Given the description of an element on the screen output the (x, y) to click on. 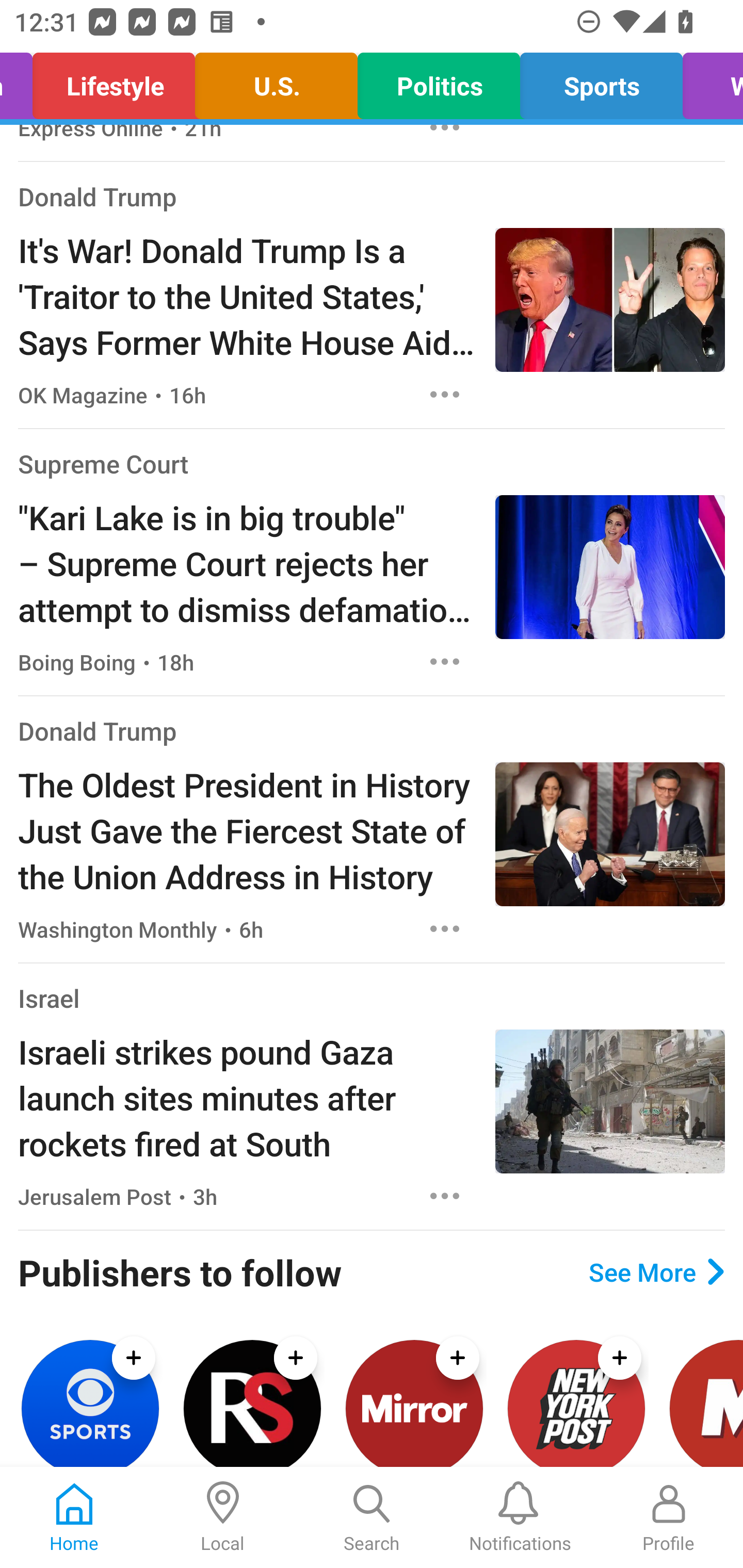
Lifestyle (113, 81)
U.S. (276, 81)
Politics (438, 81)
Sports (600, 81)
Donald Trump (97, 195)
Options (444, 394)
Supreme Court (102, 463)
Options (444, 661)
Donald Trump (97, 730)
Options (444, 928)
Israel (48, 997)
Options (444, 1196)
See More (656, 1271)
Local (222, 1517)
Search (371, 1517)
Notifications (519, 1517)
Profile (668, 1517)
